Given the description of an element on the screen output the (x, y) to click on. 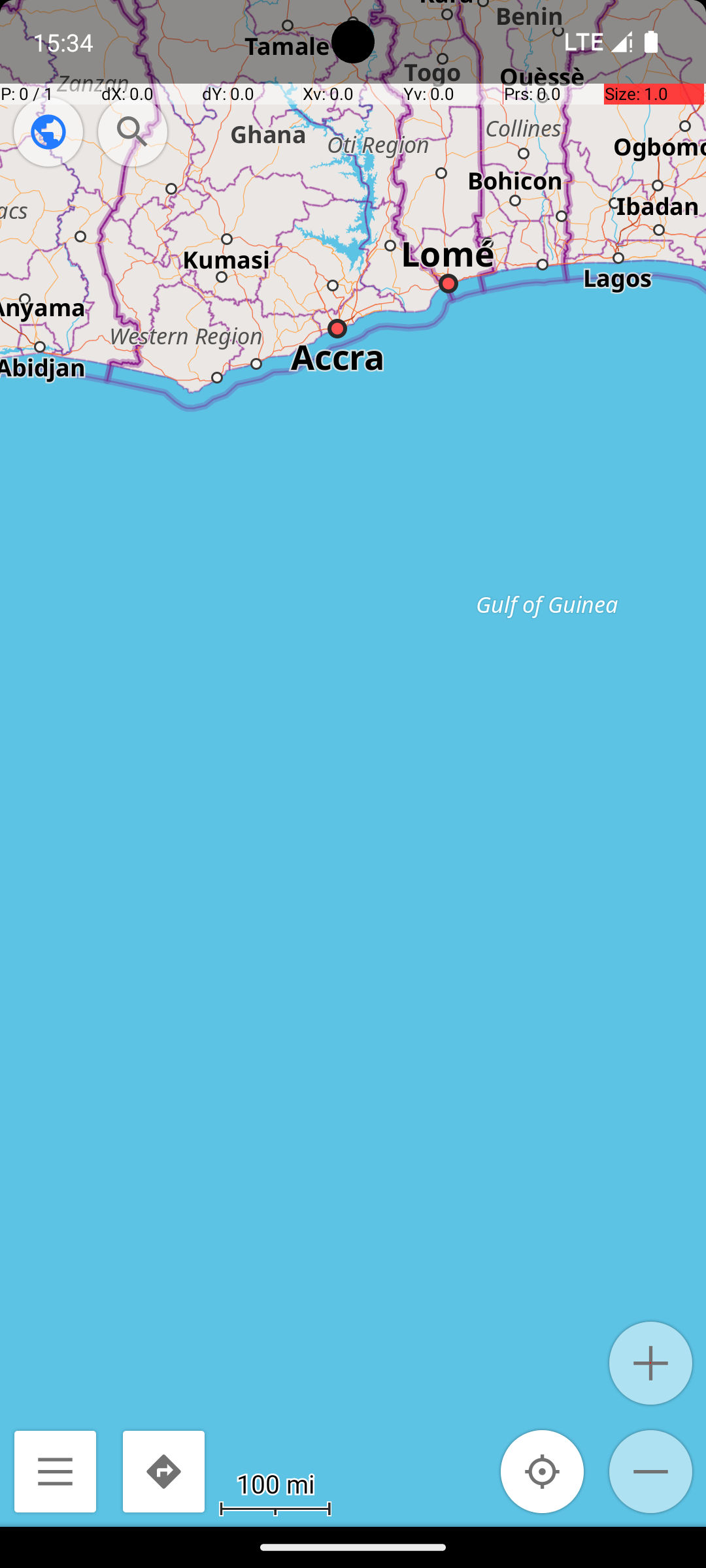
Configure map Element type: android.widget.ImageButton (48, 131)
Back to menu Element type: android.widget.ImageButton (55, 1471)
Route Element type: android.widget.ImageButton (163, 1471)
100 mi Element type: android.widget.TextView (274, 1483)
Position not yet known. Element type: android.widget.ImageButton (542, 1471)
Zoom in Element type: android.widget.ImageButton (650, 1362)
Zoom out Element type: android.widget.ImageButton (650, 1471)
